Given the description of an element on the screen output the (x, y) to click on. 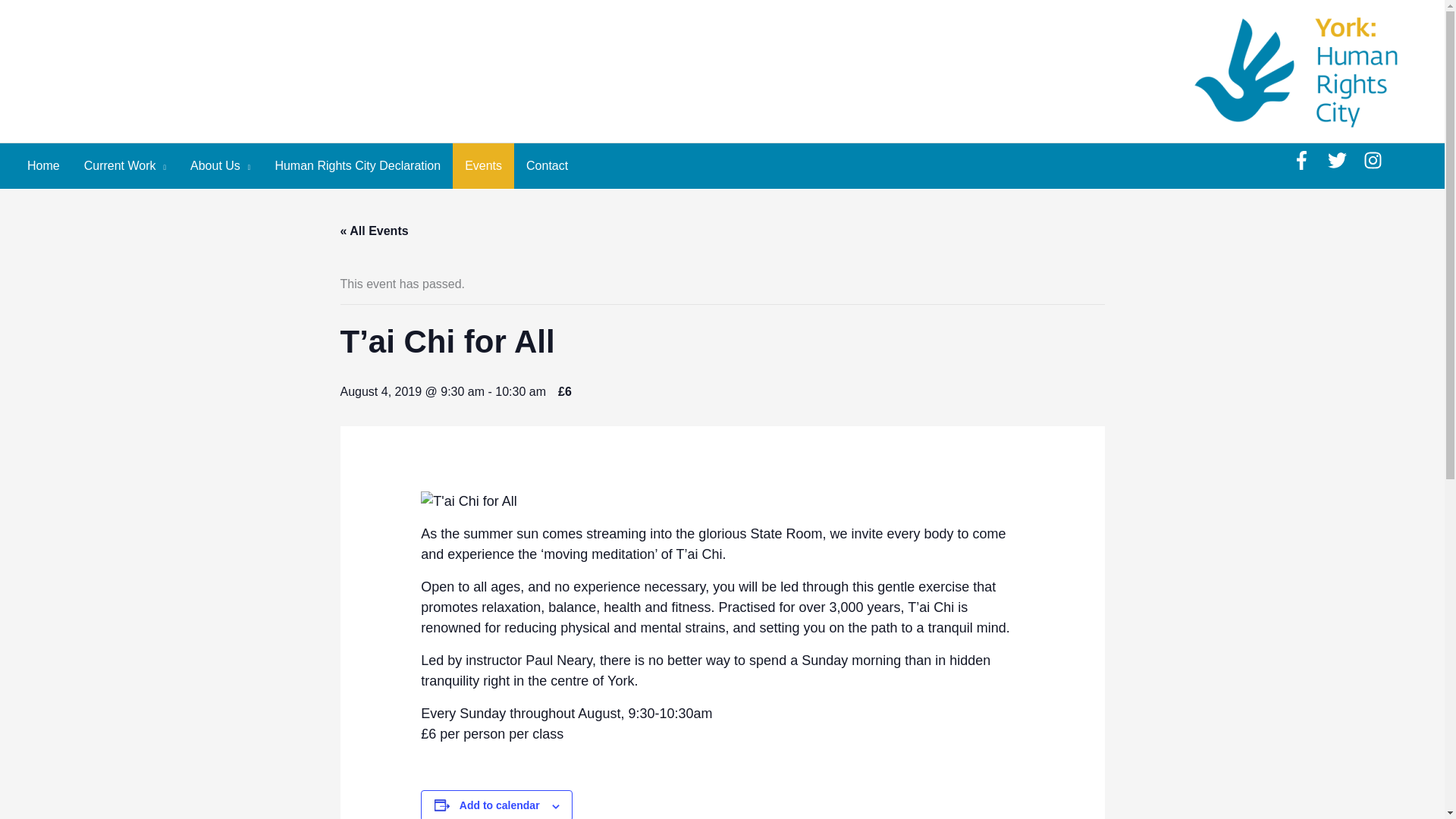
Human Rights City Declaration (357, 166)
Current Work (124, 166)
About Us (219, 166)
Events (482, 166)
Home (42, 166)
Contact (546, 166)
Add to calendar (500, 805)
